Given the description of an element on the screen output the (x, y) to click on. 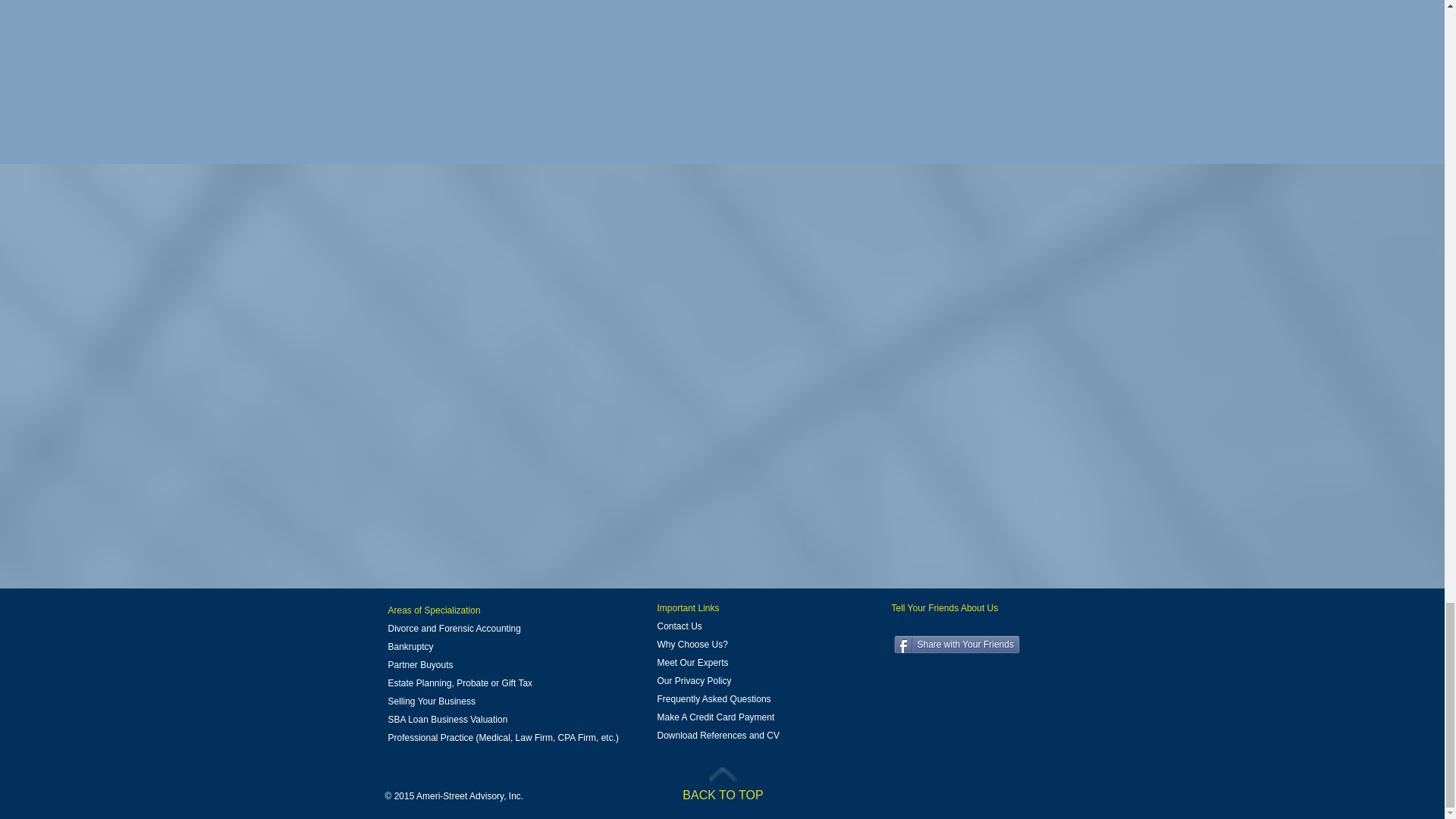
Bankruptcy (410, 646)
Partner Buyouts (420, 665)
Share with Your Friends (956, 644)
Divorce and Forensic Accounting (454, 628)
